Given the description of an element on the screen output the (x, y) to click on. 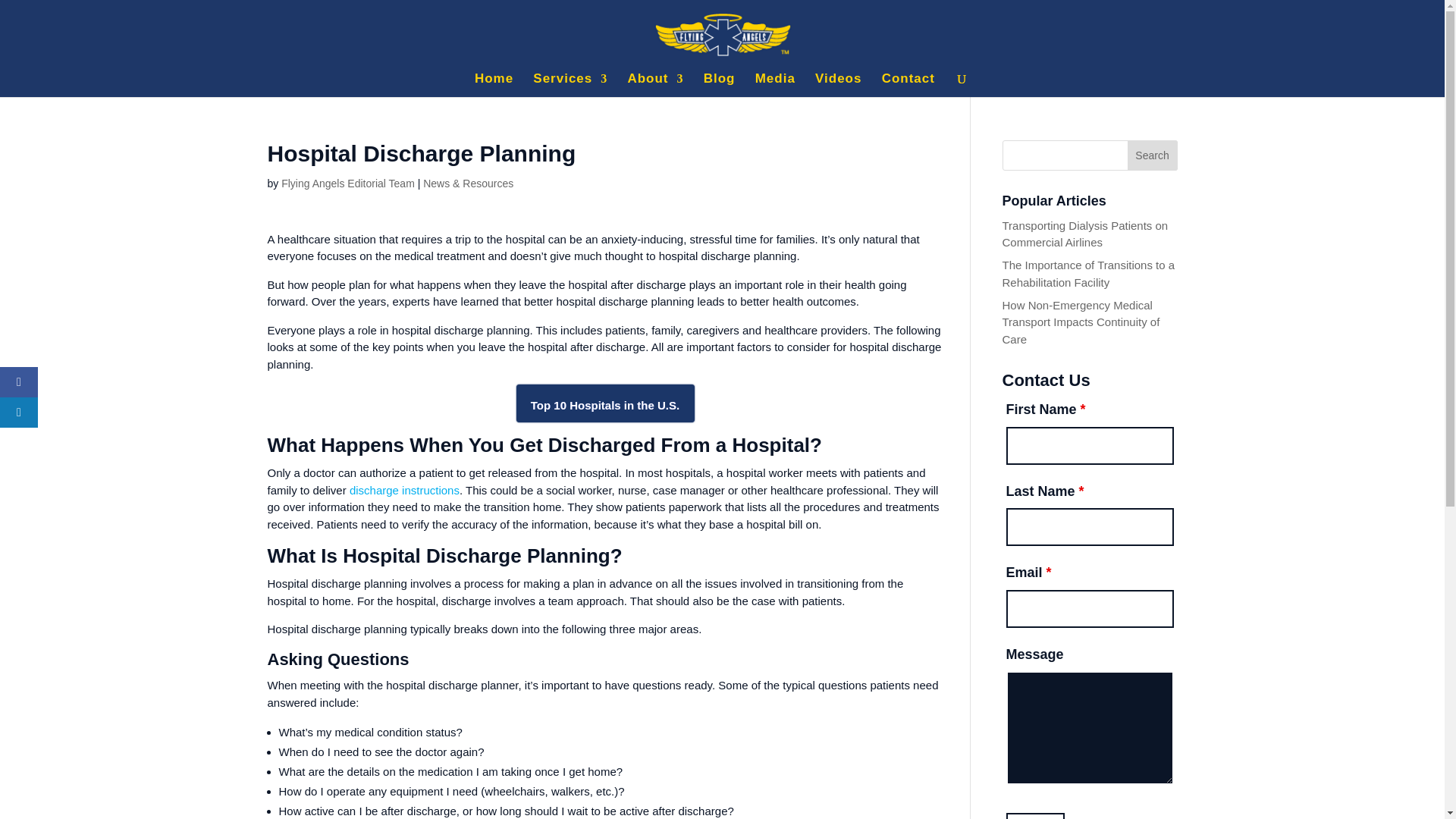
10 Best US Hospitals Listed (604, 403)
Posts by Flying Angels Editorial Team (347, 183)
About (654, 85)
Submit (1035, 816)
Blog (719, 85)
Contact (908, 85)
Home (493, 85)
Media (774, 85)
Search (1151, 155)
Videos (838, 85)
Services (569, 85)
